Given the description of an element on the screen output the (x, y) to click on. 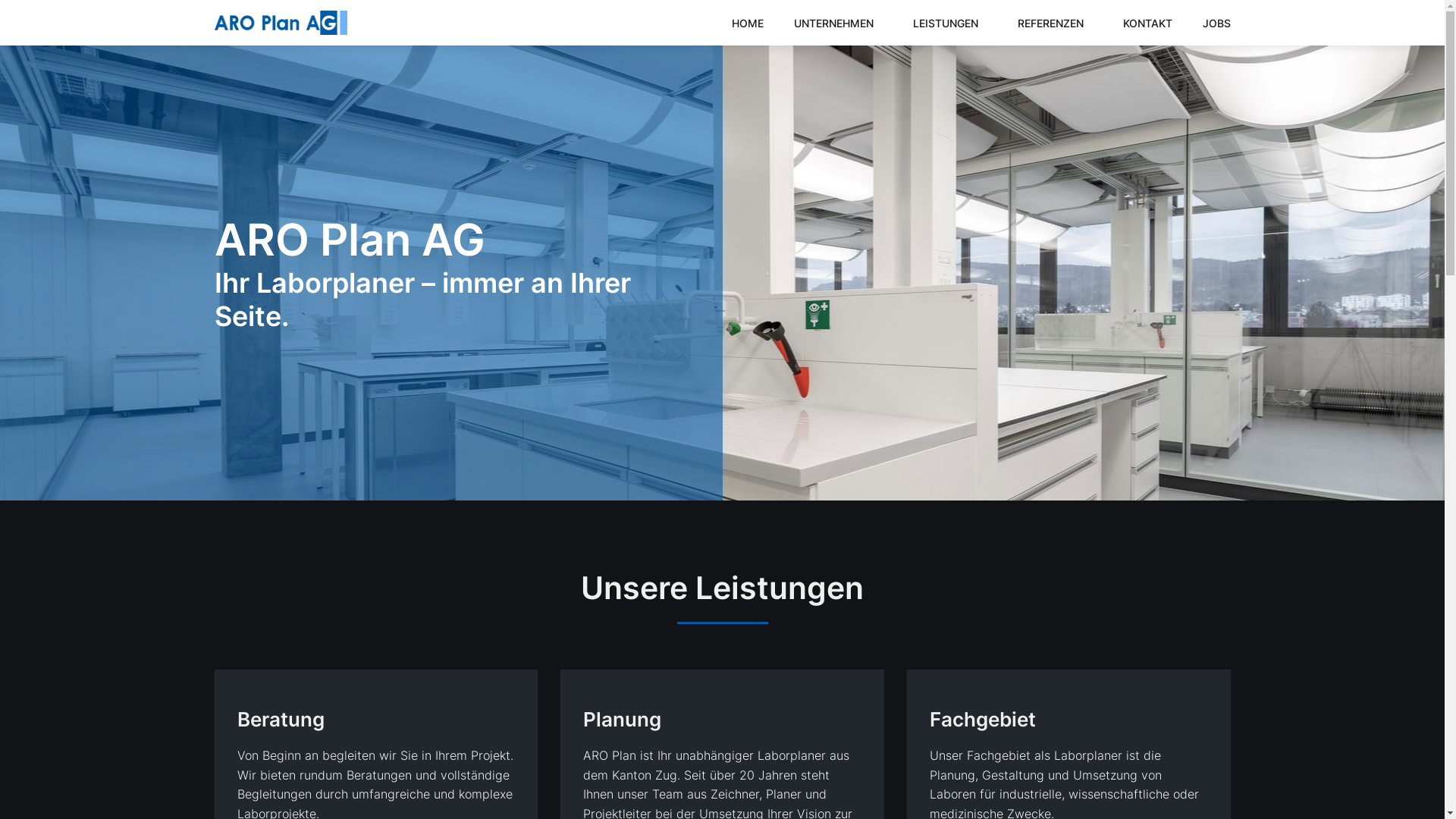
JOBS Element type: text (1216, 23)
KONTAKT Element type: text (1146, 23)
HOME Element type: text (746, 23)
